Given the description of an element on the screen output the (x, y) to click on. 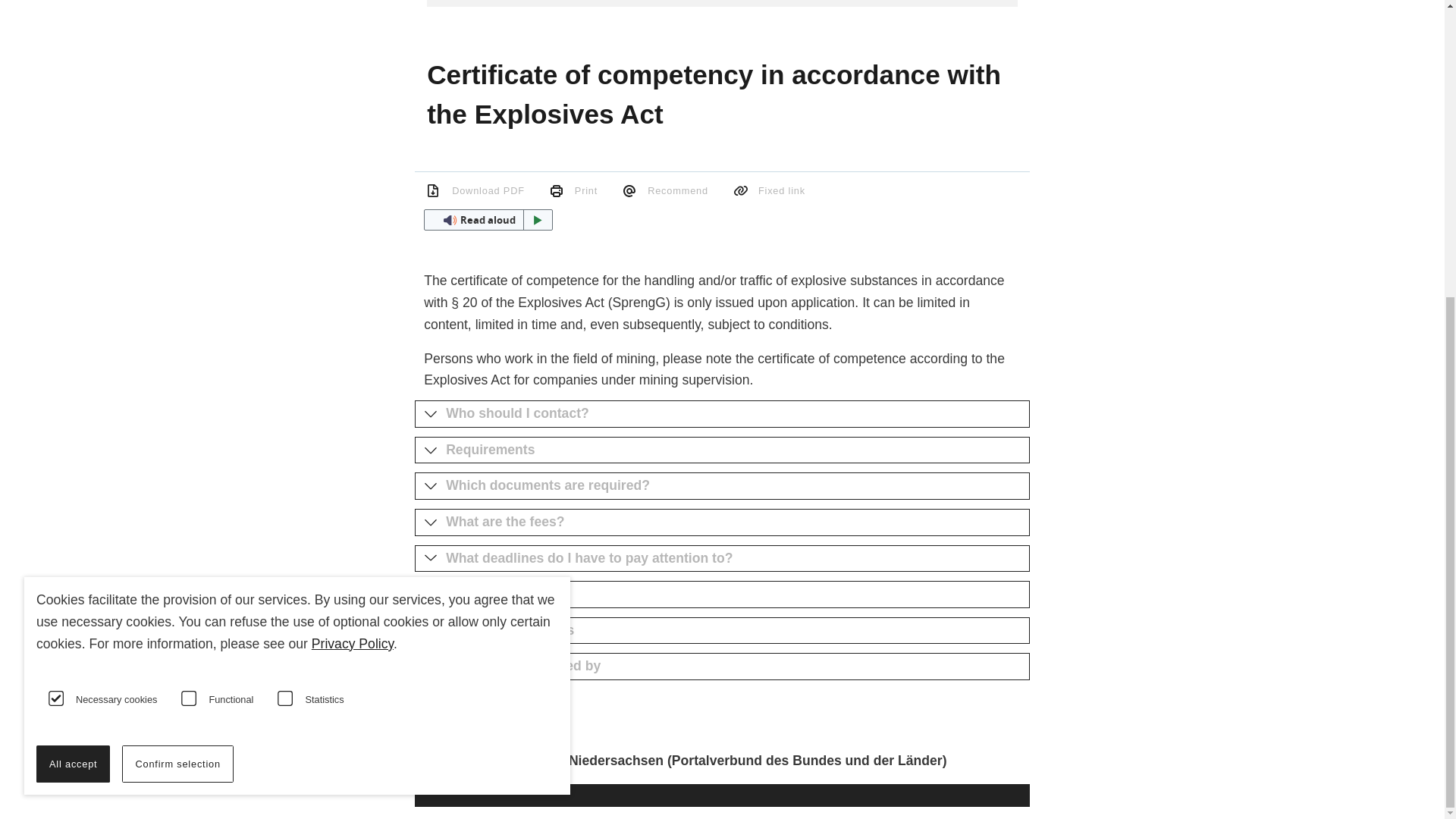
show content of Who should I contact? (721, 413)
To listen to the text, please use ReadSpeaker (487, 219)
show content of Which documents are required? (721, 485)
show content of Technically approved by (721, 666)
Confirm selection (177, 305)
All accept (73, 305)
show content of Requirements (721, 450)
show content of What are the fees? (721, 522)
Privacy Policy (352, 184)
